Given the description of an element on the screen output the (x, y) to click on. 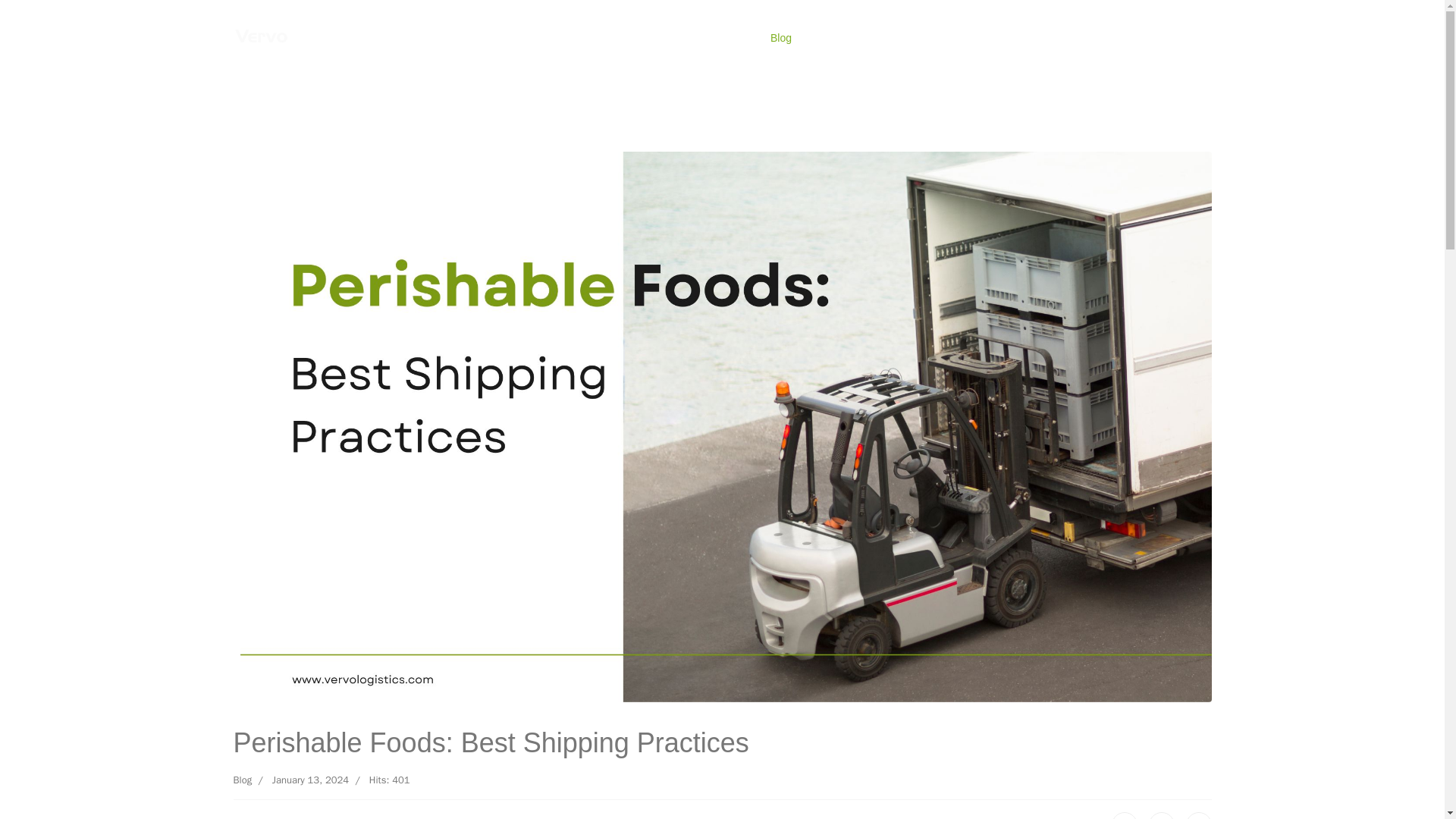
Industry (723, 38)
Blog (241, 779)
Published: January 13, 2024 (300, 780)
LinkedIn (1198, 815)
Services (651, 38)
Twitter (1161, 815)
Category: Blog (241, 780)
Shipping quote (568, 38)
Facebook (1124, 815)
